Given the description of an element on the screen output the (x, y) to click on. 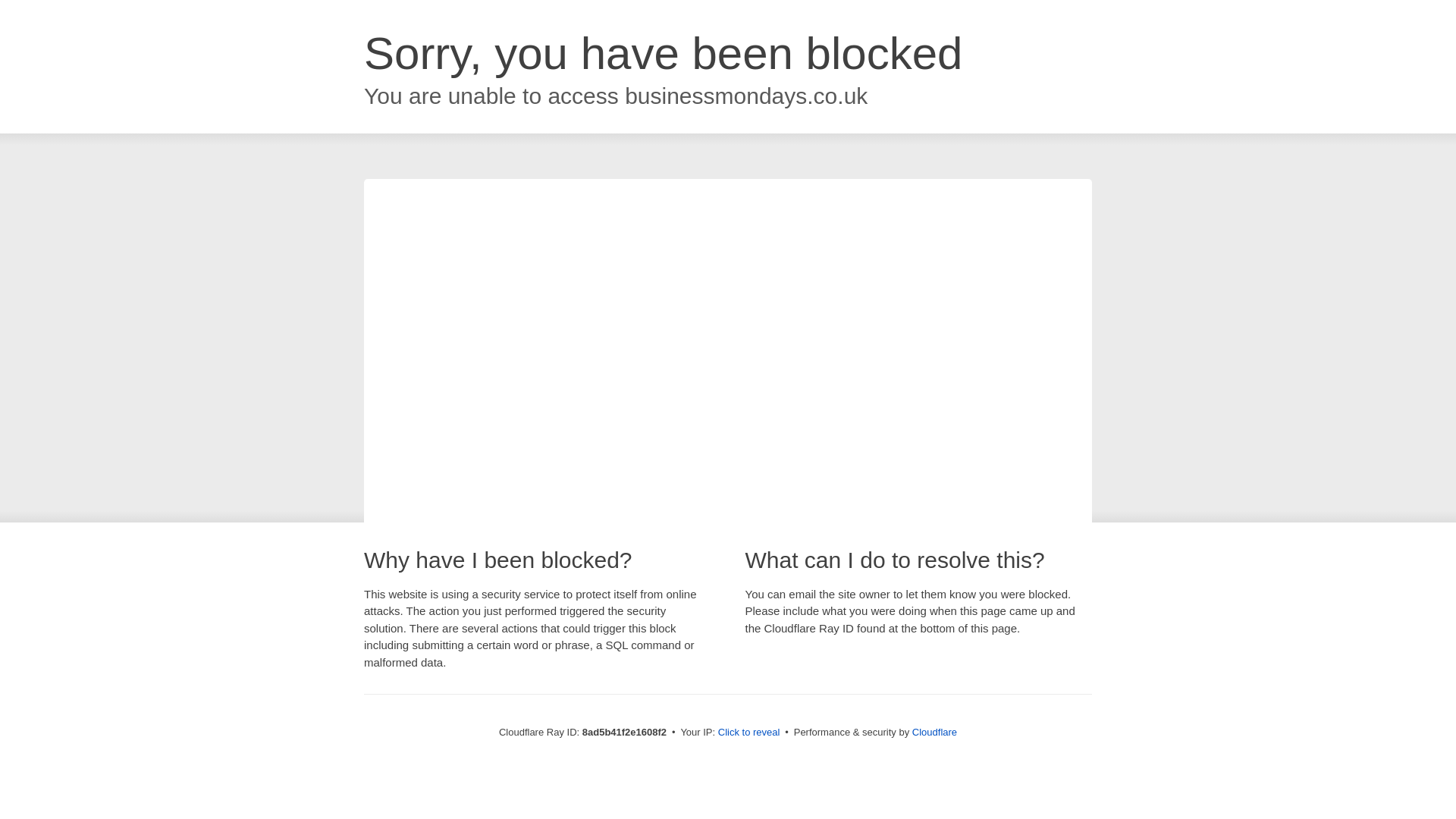
Click to reveal (748, 732)
Cloudflare (934, 731)
